Given the description of an element on the screen output the (x, y) to click on. 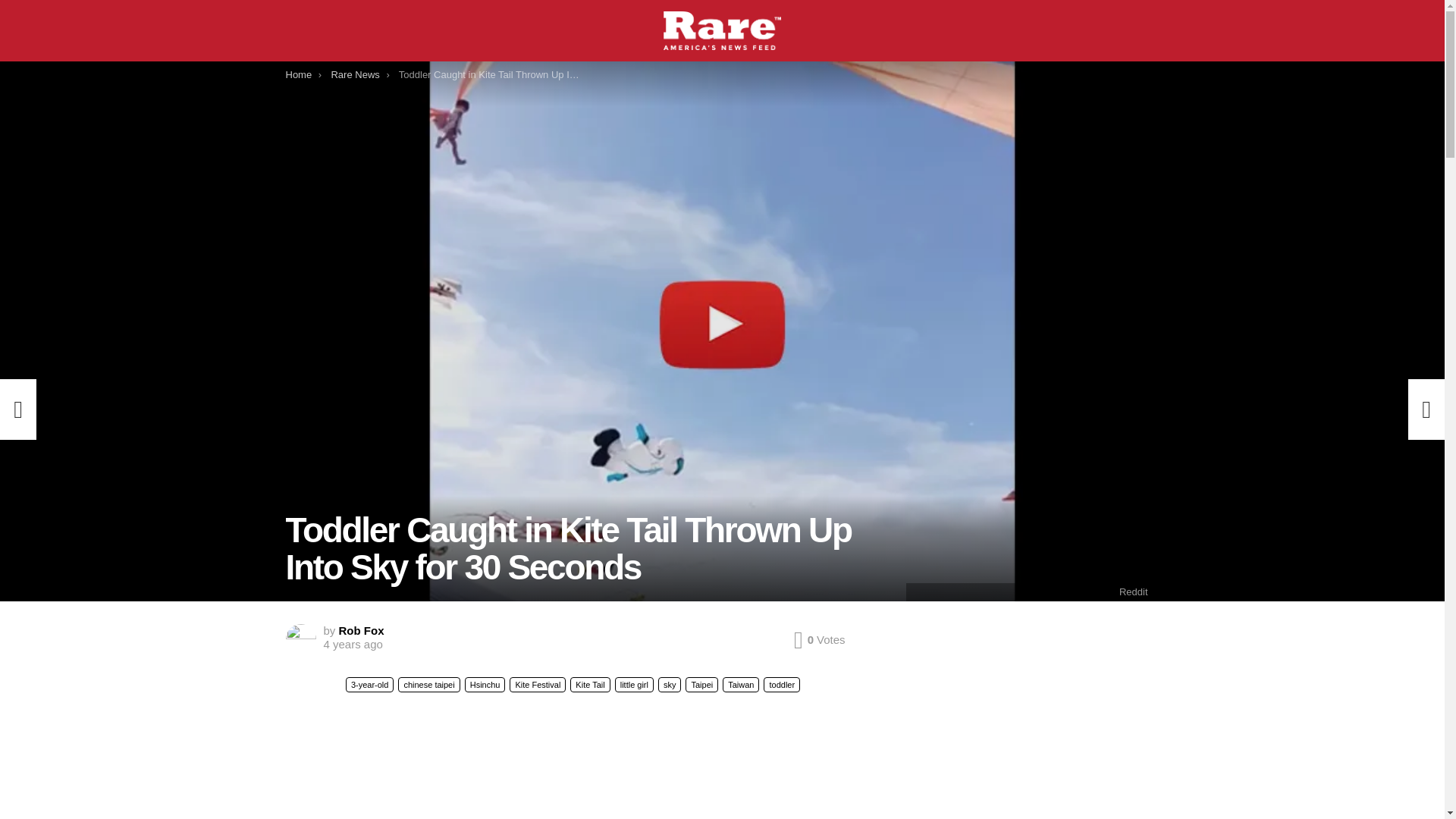
chinese taipei (428, 684)
Rob Fox (361, 630)
Taipei (701, 684)
Kite Festival (537, 684)
toddler (780, 684)
Taiwan (740, 684)
Rare News (354, 74)
sky (669, 684)
little girl (633, 684)
Kite Tail (590, 684)
